Given the description of an element on the screen output the (x, y) to click on. 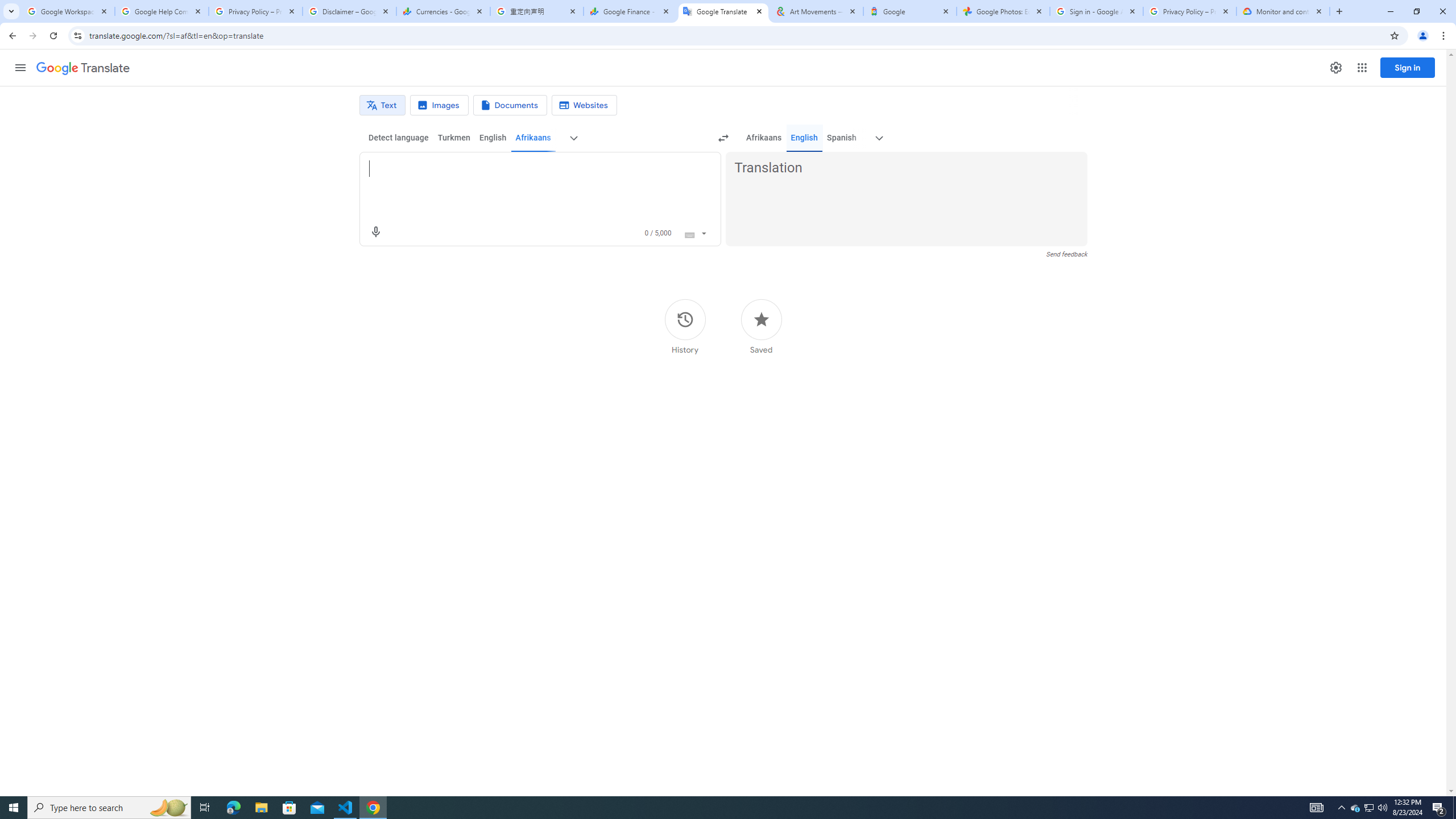
Spanish (840, 137)
Currencies - Google Finance (443, 11)
Show the Input Tools menu (703, 231)
Detect language (398, 137)
Text translation (382, 105)
Google Workspace Admin Community (67, 11)
Swap languages (Ctrl+Shift+S) (723, 137)
